Given the description of an element on the screen output the (x, y) to click on. 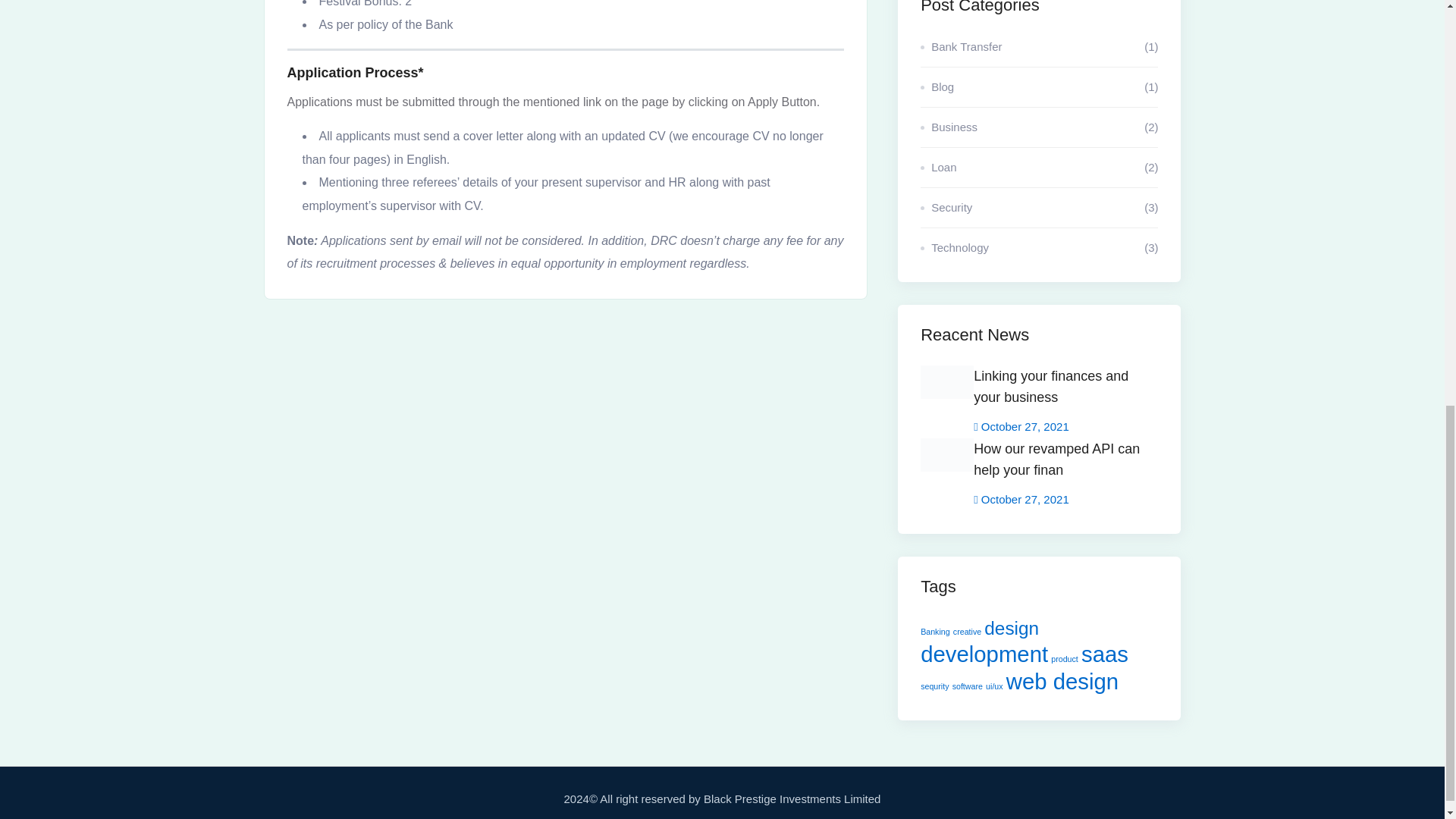
Linking your finances and your business (1065, 390)
Linking your finances and your business (1065, 390)
How our revamped API can help your finances (1065, 463)
